Given the description of an element on the screen output the (x, y) to click on. 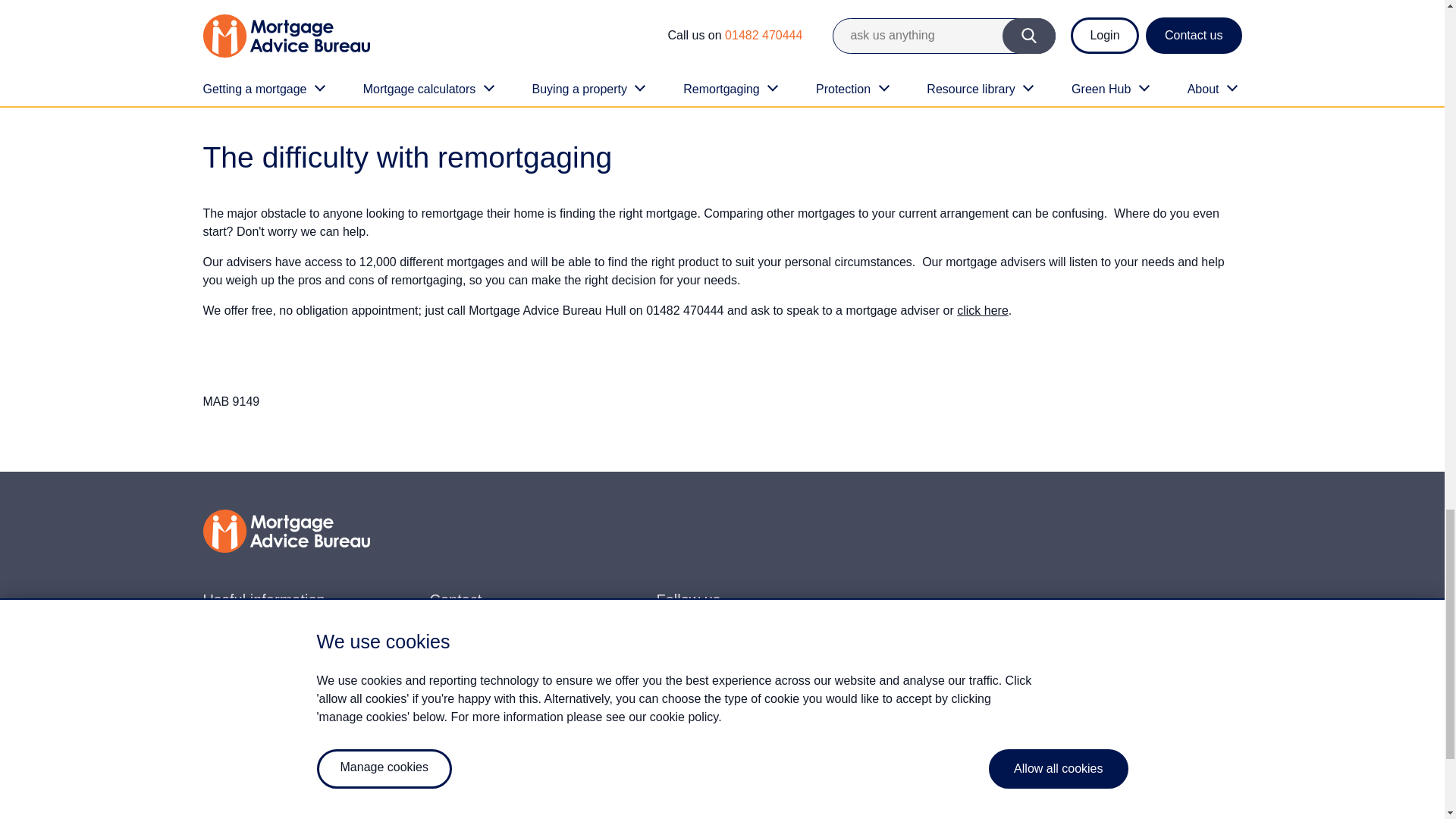
Facebook (673, 640)
Newland Avenue Hull (982, 309)
X (714, 640)
LinkedIn (840, 640)
Get it on GooglePlay (815, 722)
Instagram (756, 640)
Download from the AppStore (704, 722)
Threads (797, 640)
